Given the description of an element on the screen output the (x, y) to click on. 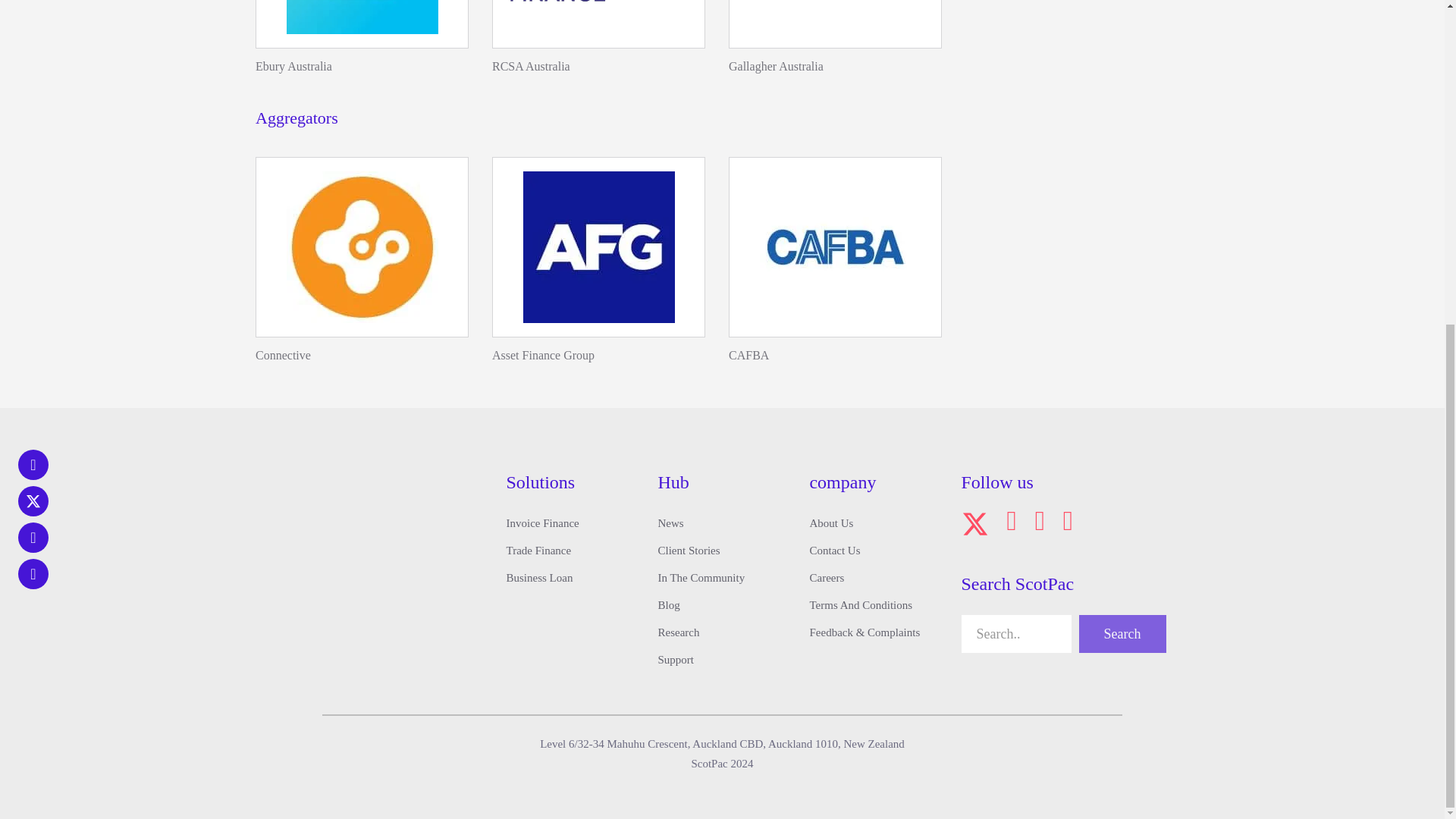
Search.. (1015, 633)
